Given the description of an element on the screen output the (x, y) to click on. 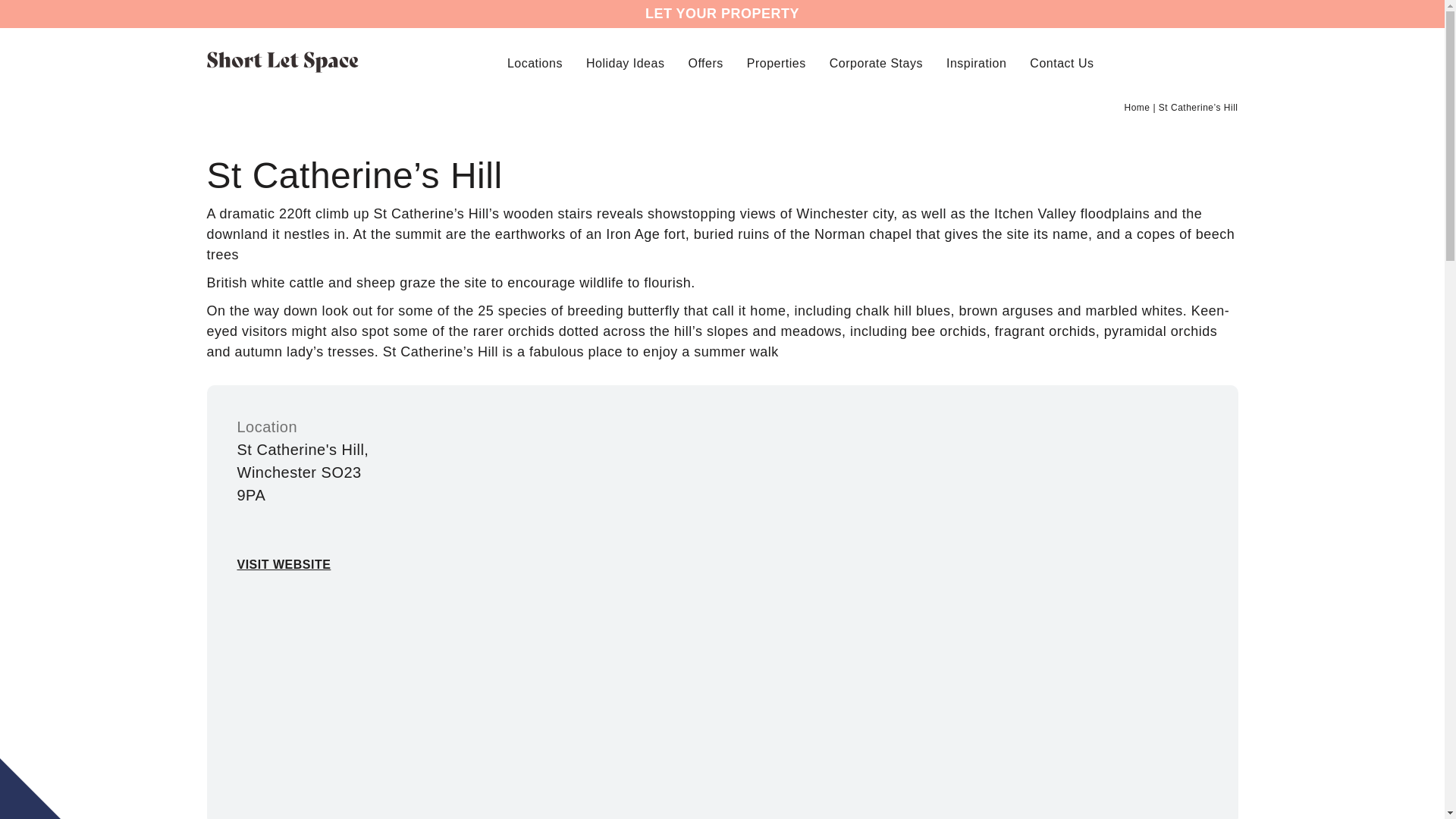
Short Let Space (282, 61)
Holiday Ideas (624, 63)
Locations (534, 63)
